Given the description of an element on the screen output the (x, y) to click on. 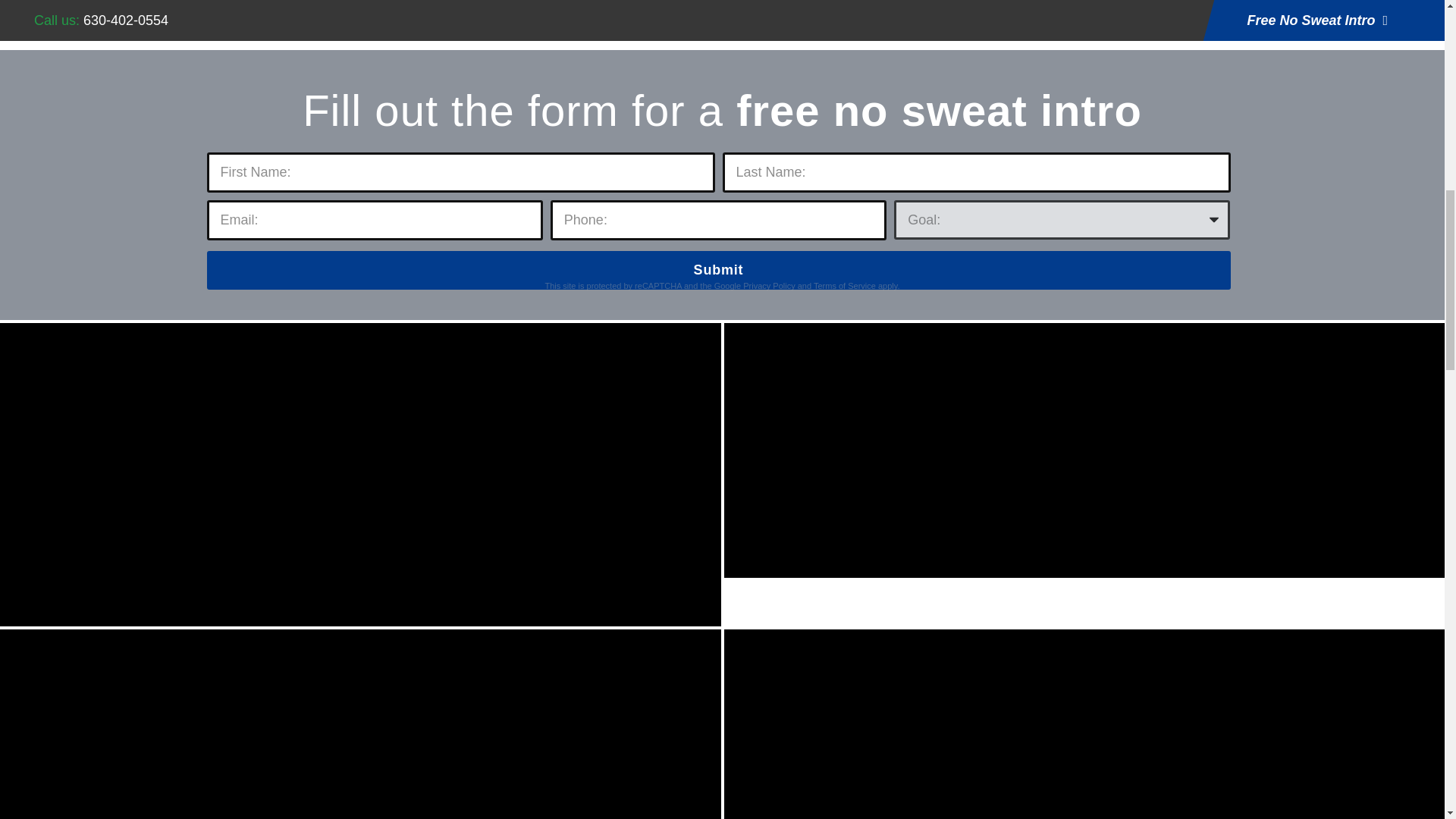
Submit (718, 269)
Submit (718, 269)
Privacy Policy (768, 285)
Terms of Service (844, 285)
